Given the description of an element on the screen output the (x, y) to click on. 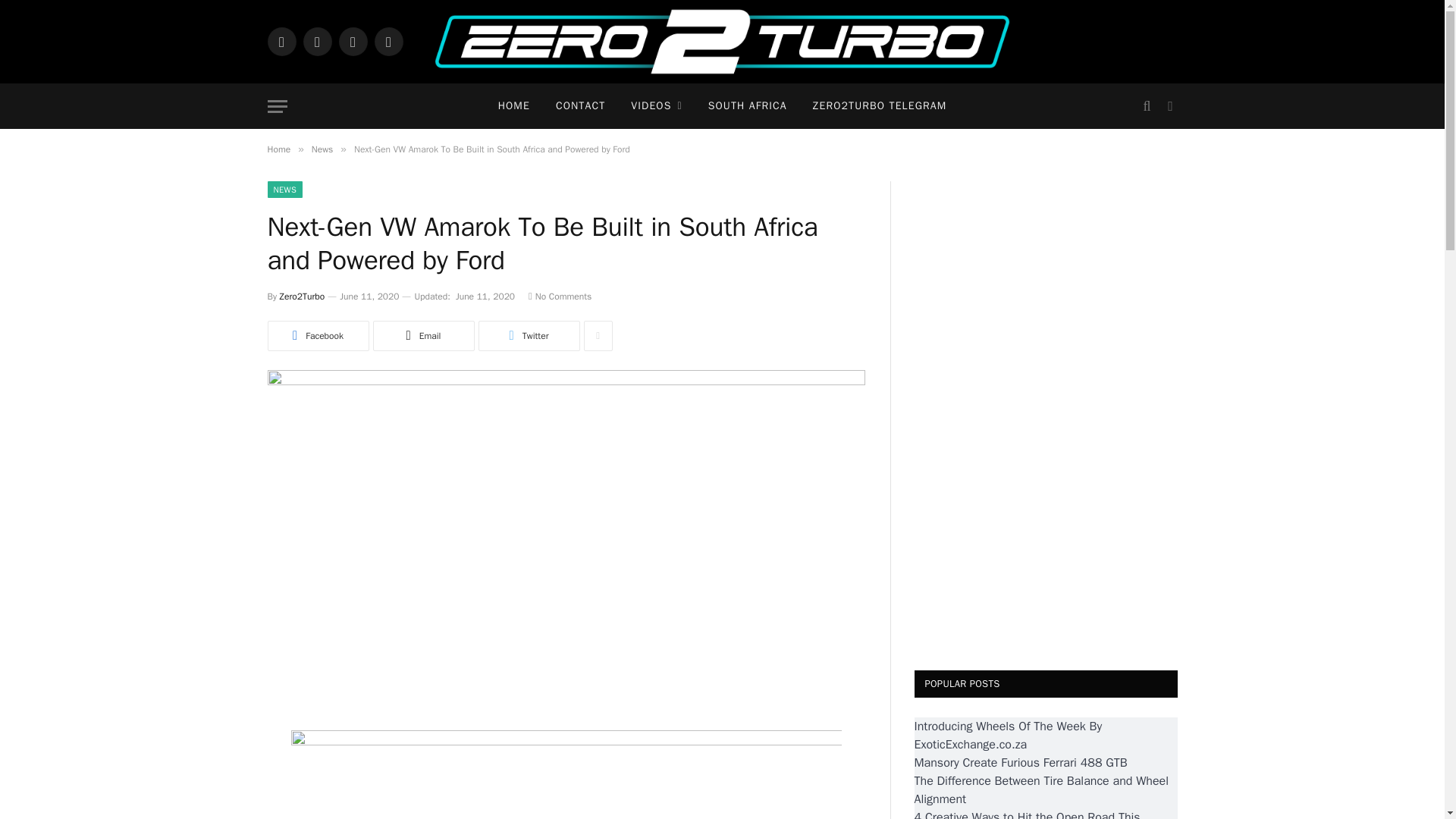
No Comments (559, 296)
Zero2Turbo (301, 296)
Switch to Dark Design - easier on eyes. (1168, 106)
Posts by Zero2Turbo (301, 296)
NEWS (284, 189)
CONTACT (580, 105)
Zero2Turbo (722, 41)
Home (277, 149)
RSS (388, 41)
SOUTH AFRICA (747, 105)
